Given the description of an element on the screen output the (x, y) to click on. 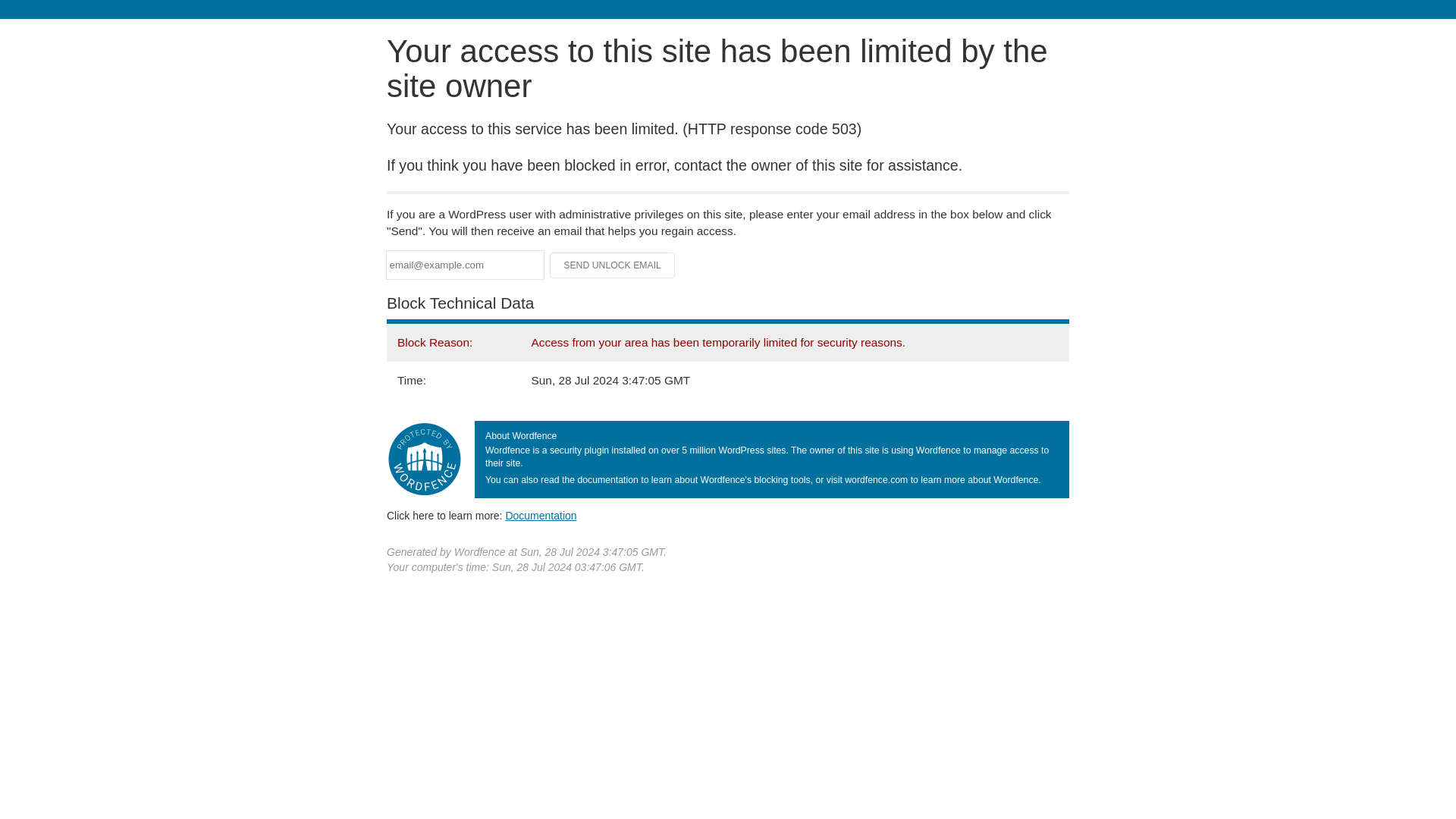
Send Unlock Email (612, 265)
Send Unlock Email (612, 265)
Documentation (540, 515)
